Given the description of an element on the screen output the (x, y) to click on. 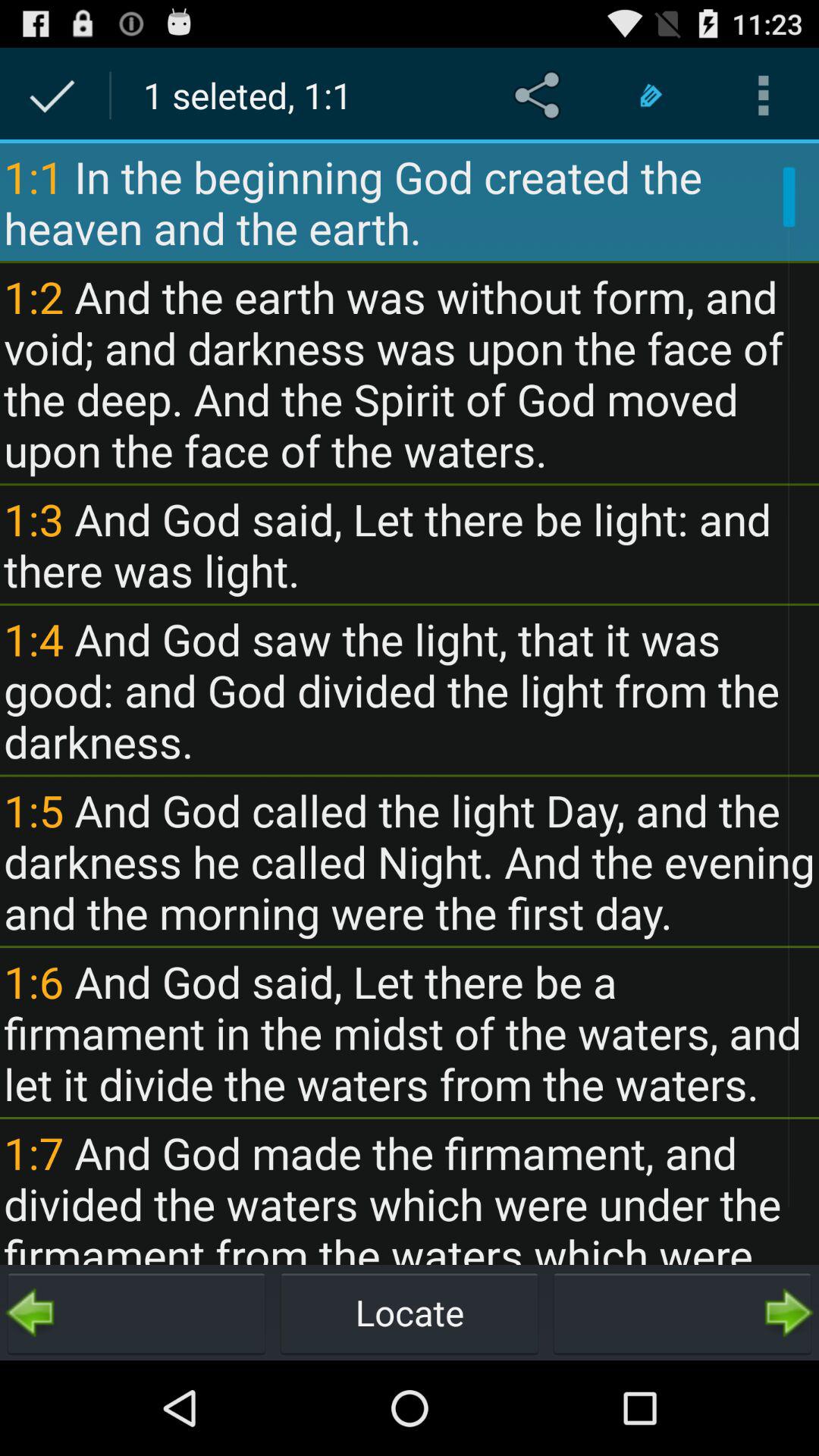
tap app to the right of the 1 seleted 1 icon (540, 95)
